Given the description of an element on the screen output the (x, y) to click on. 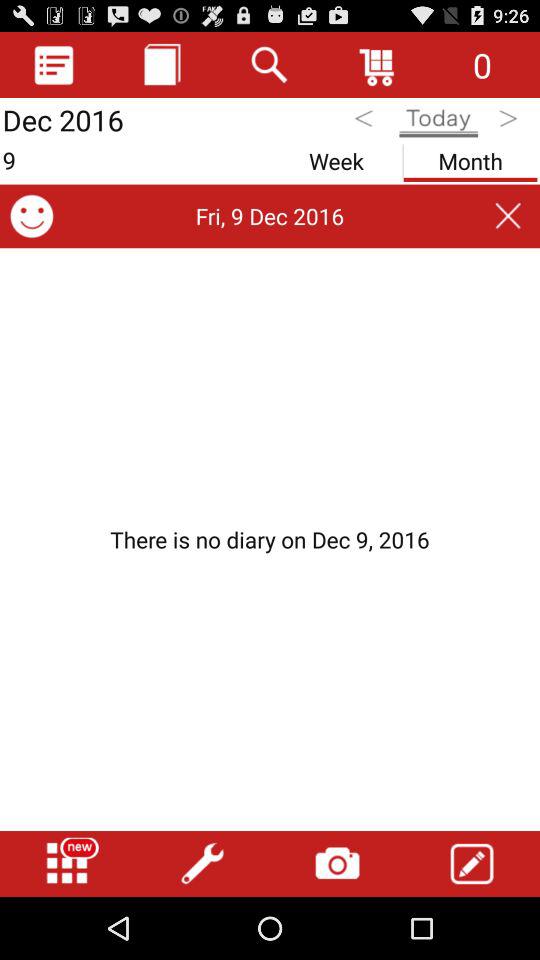
warning light (270, 539)
